Given the description of an element on the screen output the (x, y) to click on. 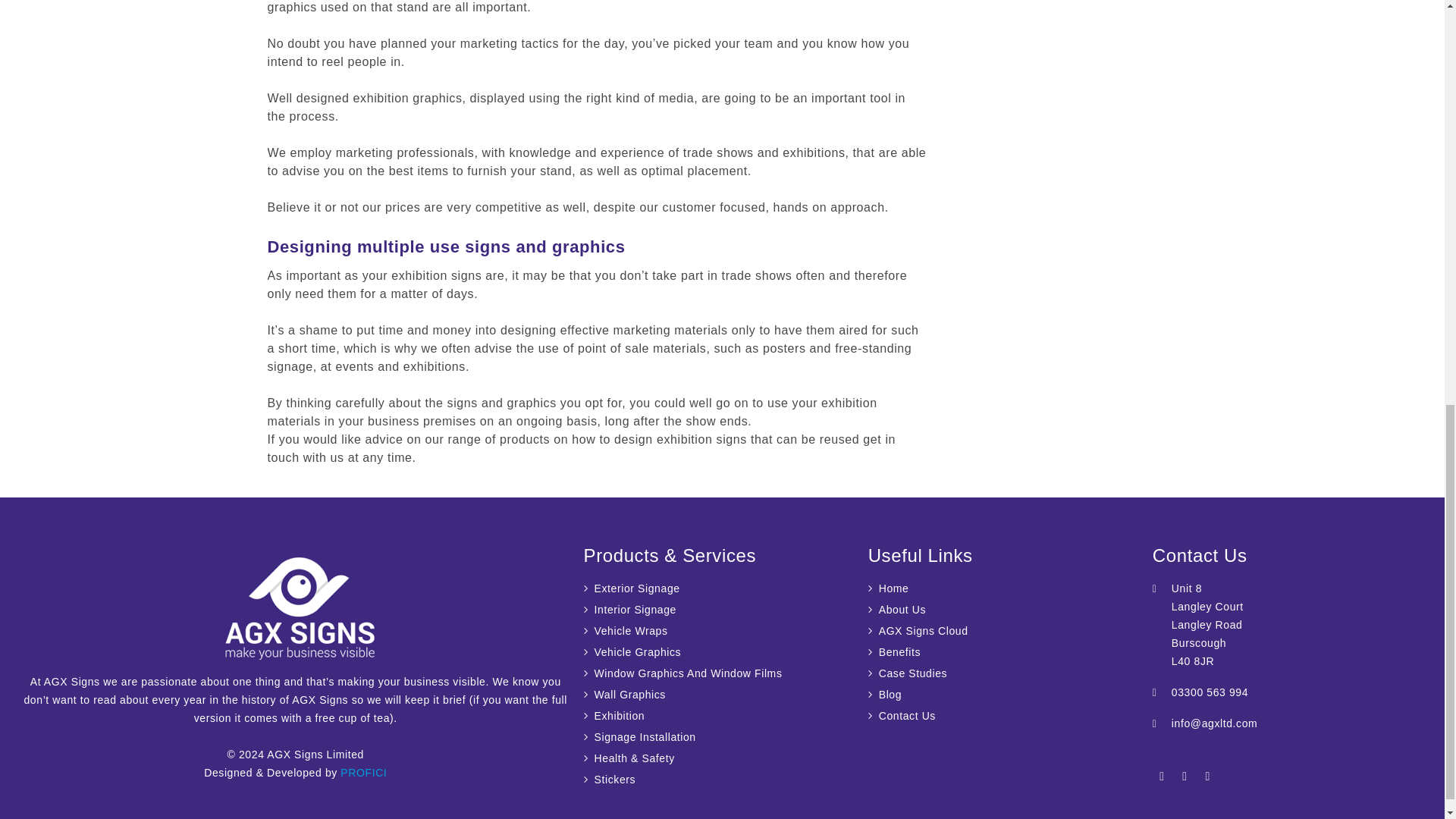
Vehicle Wraps (625, 630)
Interior Signage (630, 609)
PROFICI (363, 772)
Exterior Signage (631, 588)
